Given the description of an element on the screen output the (x, y) to click on. 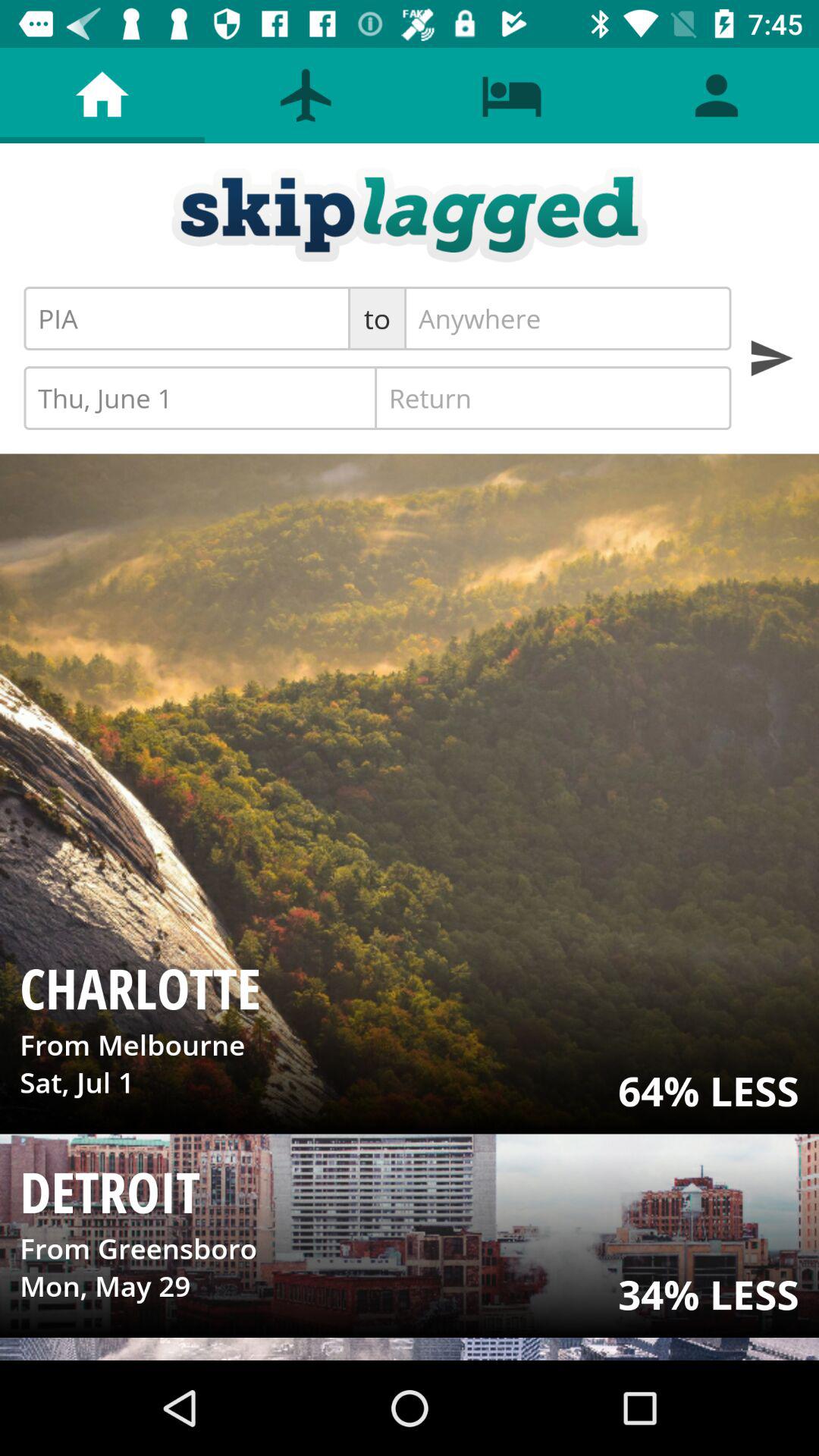
turn on the item to the left of the to item (187, 318)
